Given the description of an element on the screen output the (x, y) to click on. 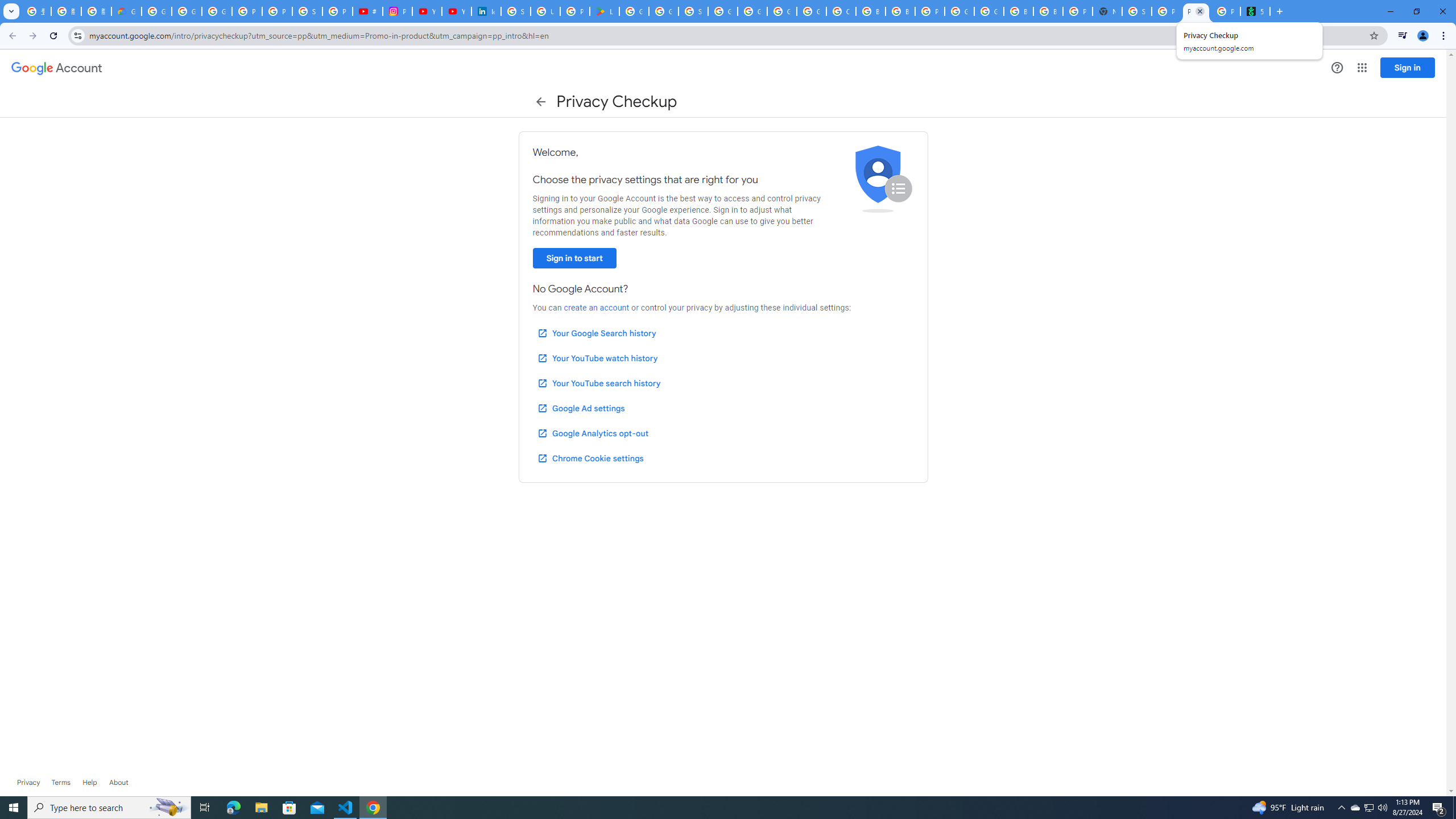
Browse Chrome as a guest - Computer - Google Chrome Help (900, 11)
Sign in - Google Accounts (306, 11)
Browse Chrome as a guest - Computer - Google Chrome Help (870, 11)
#nbabasketballhighlights - YouTube (367, 11)
Google Ad settings (580, 408)
Sign in to start (573, 258)
Identity verification via Persona | LinkedIn Help (485, 11)
New Tab (1106, 11)
